Given the description of an element on the screen output the (x, y) to click on. 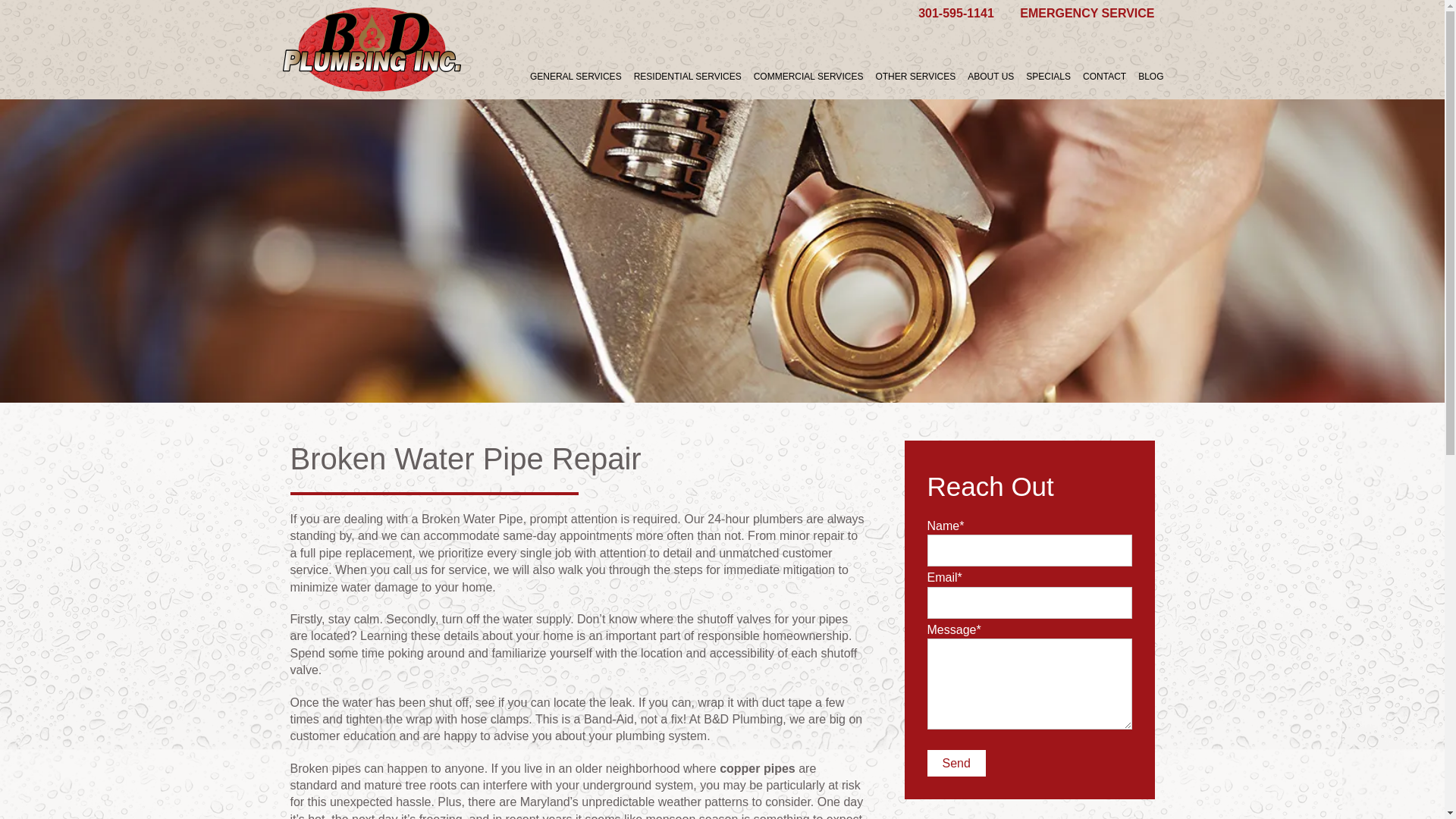
EMERGENCY SERVICE (1086, 13)
SPECIALS (1048, 76)
301-595-1141 (956, 12)
RESIDENTIAL SERVICES (687, 76)
ABOUT US (990, 76)
GENERAL SERVICES (575, 76)
OTHER SERVICES (914, 76)
CONTACT (1104, 76)
COMMERCIAL SERVICES (808, 76)
Send (955, 763)
